Given the description of an element on the screen output the (x, y) to click on. 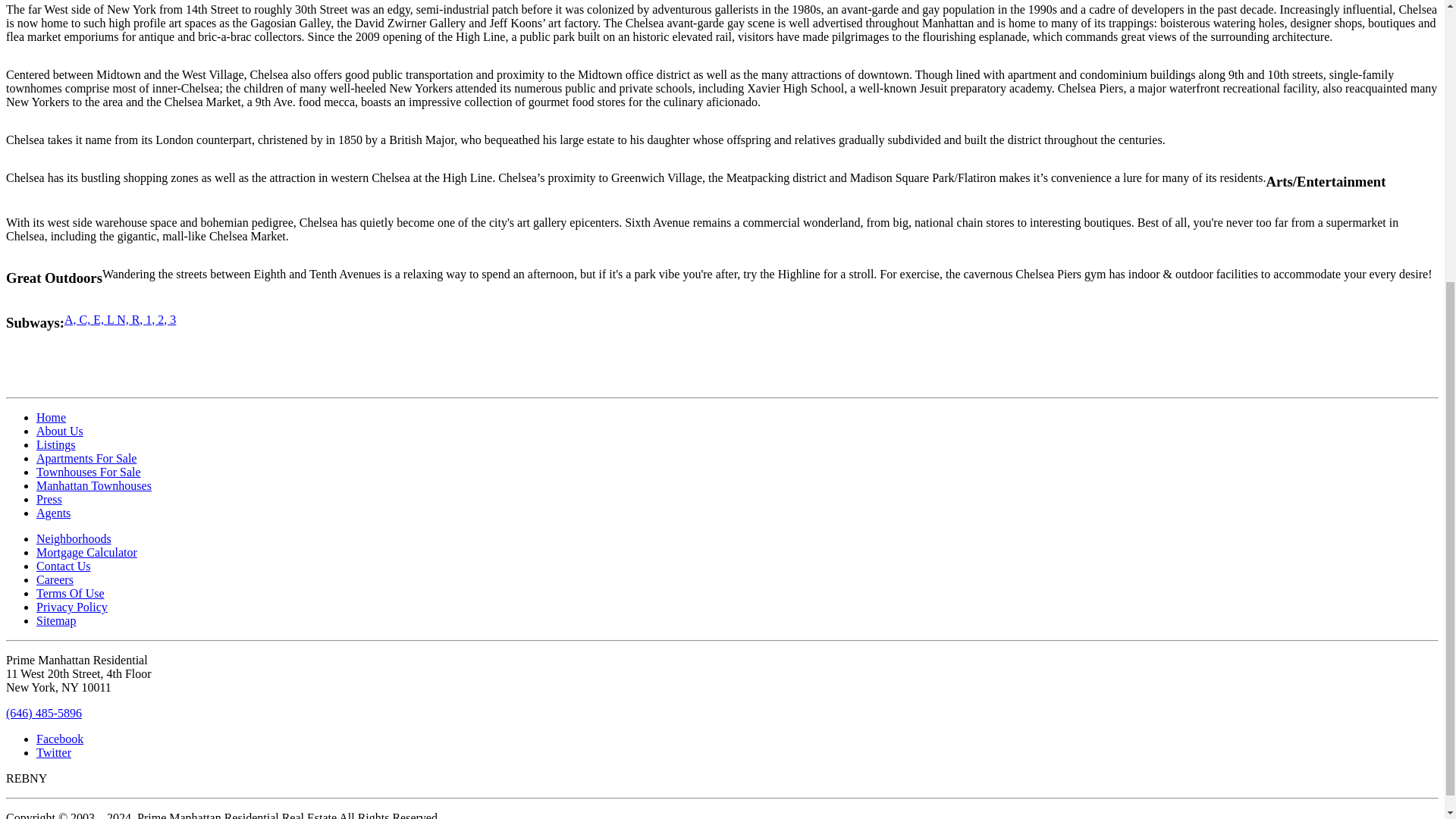
Press (49, 499)
Agents (52, 512)
Terms Of Use (70, 593)
Privacy Policy (71, 606)
Facebook (59, 738)
Listings (55, 444)
Facebook (59, 738)
Careers (55, 579)
About Us (59, 431)
Neighborhoods (74, 538)
Contact Us (63, 565)
N, R, (129, 318)
1, 2, 3 (160, 318)
Home (50, 417)
Apartments For Sale (86, 458)
